Given the description of an element on the screen output the (x, y) to click on. 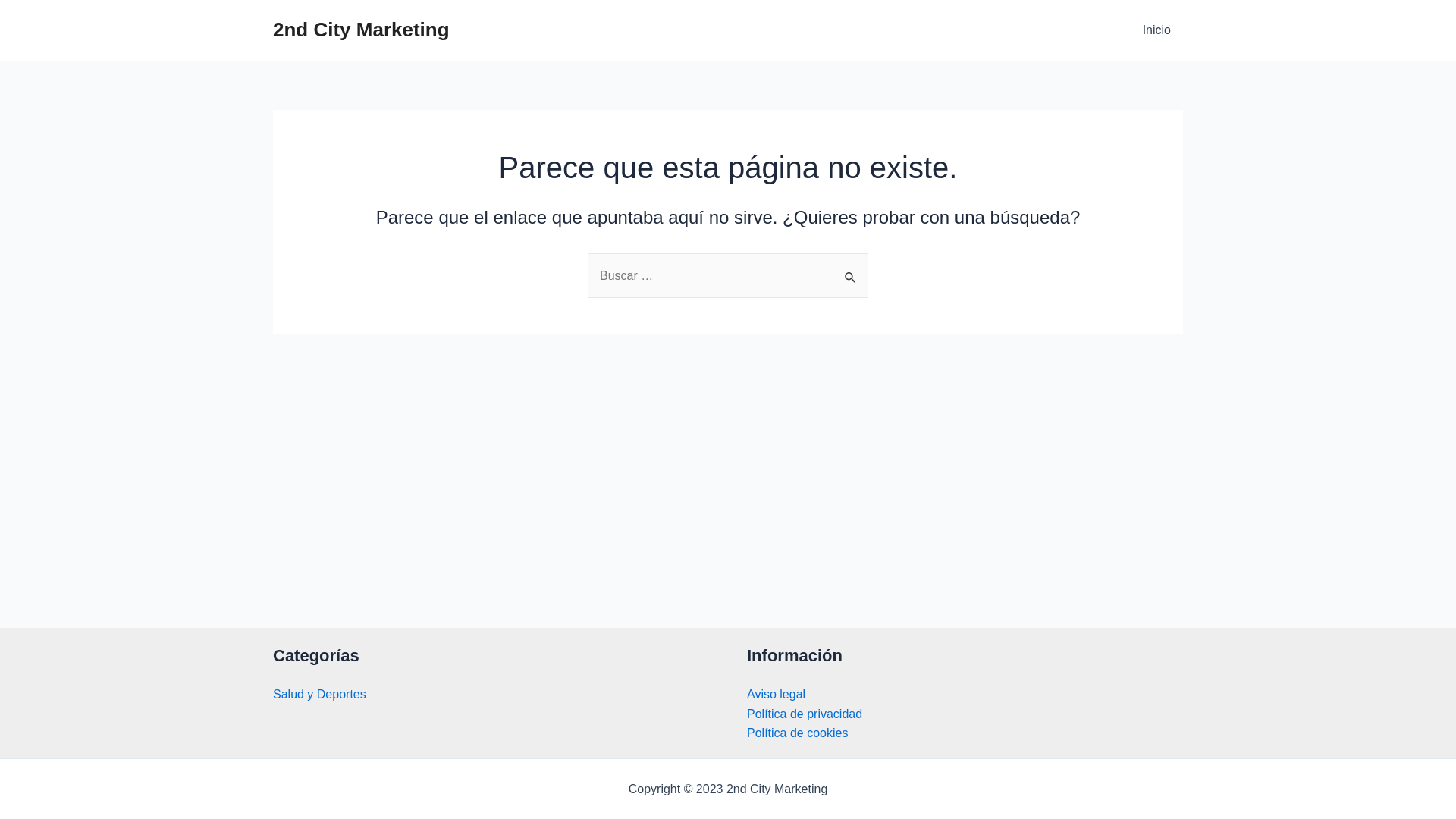
Inicio Element type: text (1156, 30)
Buscar Element type: text (851, 269)
Salud y Deportes Element type: text (319, 693)
2nd City Marketing Element type: text (361, 29)
Aviso legal Element type: text (775, 693)
